Given the description of an element on the screen output the (x, y) to click on. 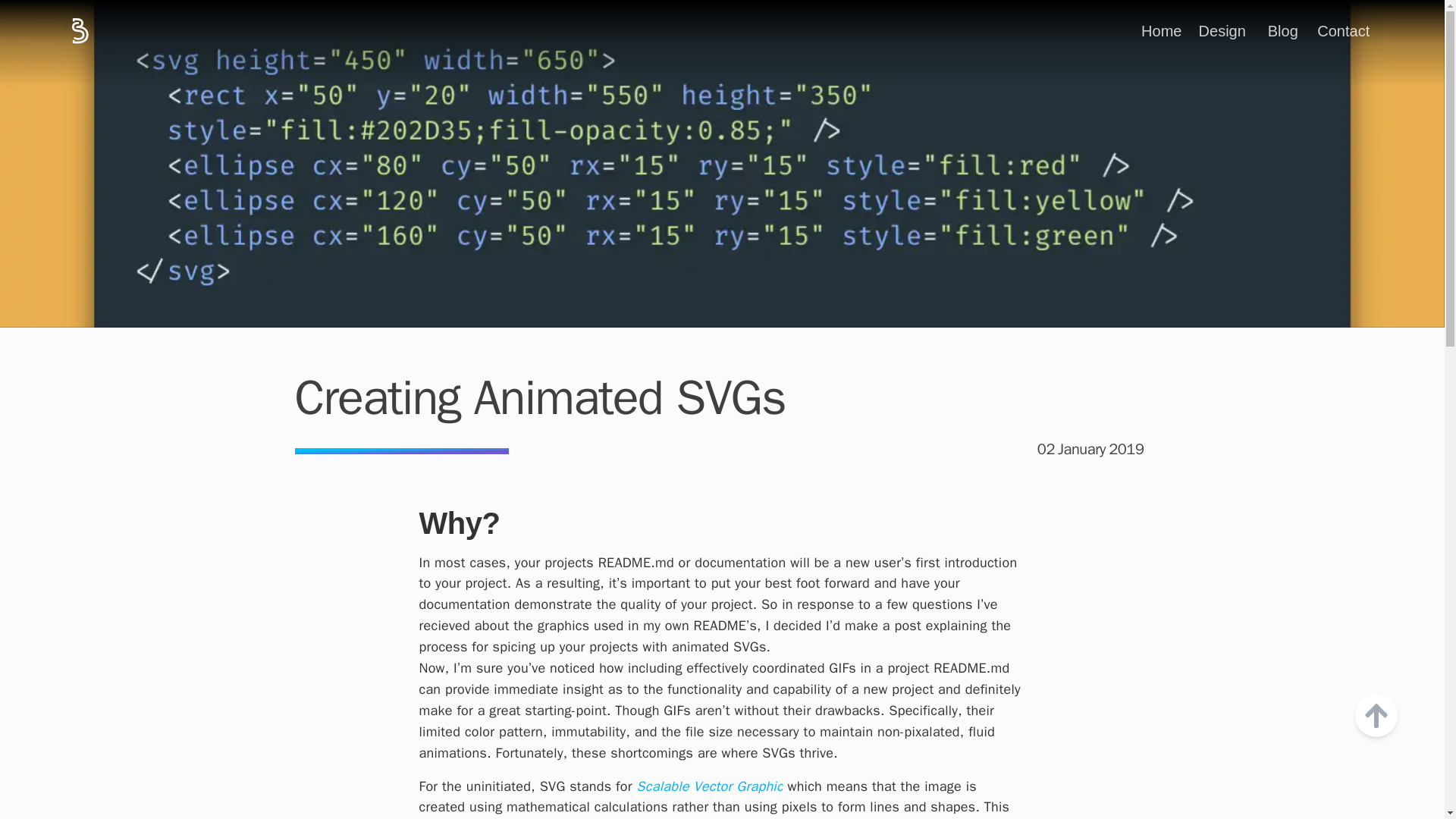
Logo (145, 31)
Home (1160, 30)
Scalable Vector Graphic (709, 786)
Blog (1283, 30)
Contact (1343, 30)
Design (1222, 30)
